Given the description of an element on the screen output the (x, y) to click on. 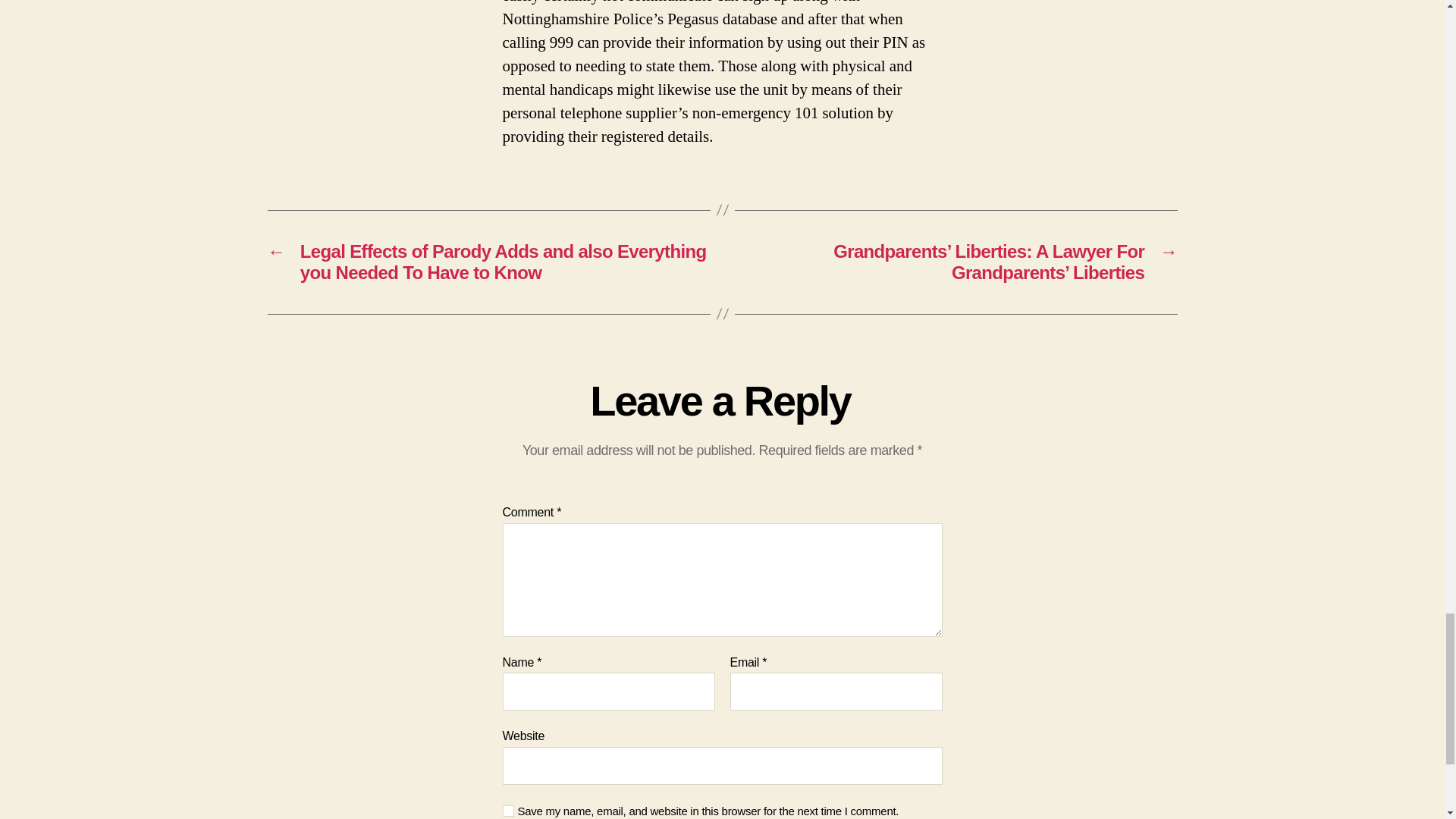
yes (507, 810)
